Given the description of an element on the screen output the (x, y) to click on. 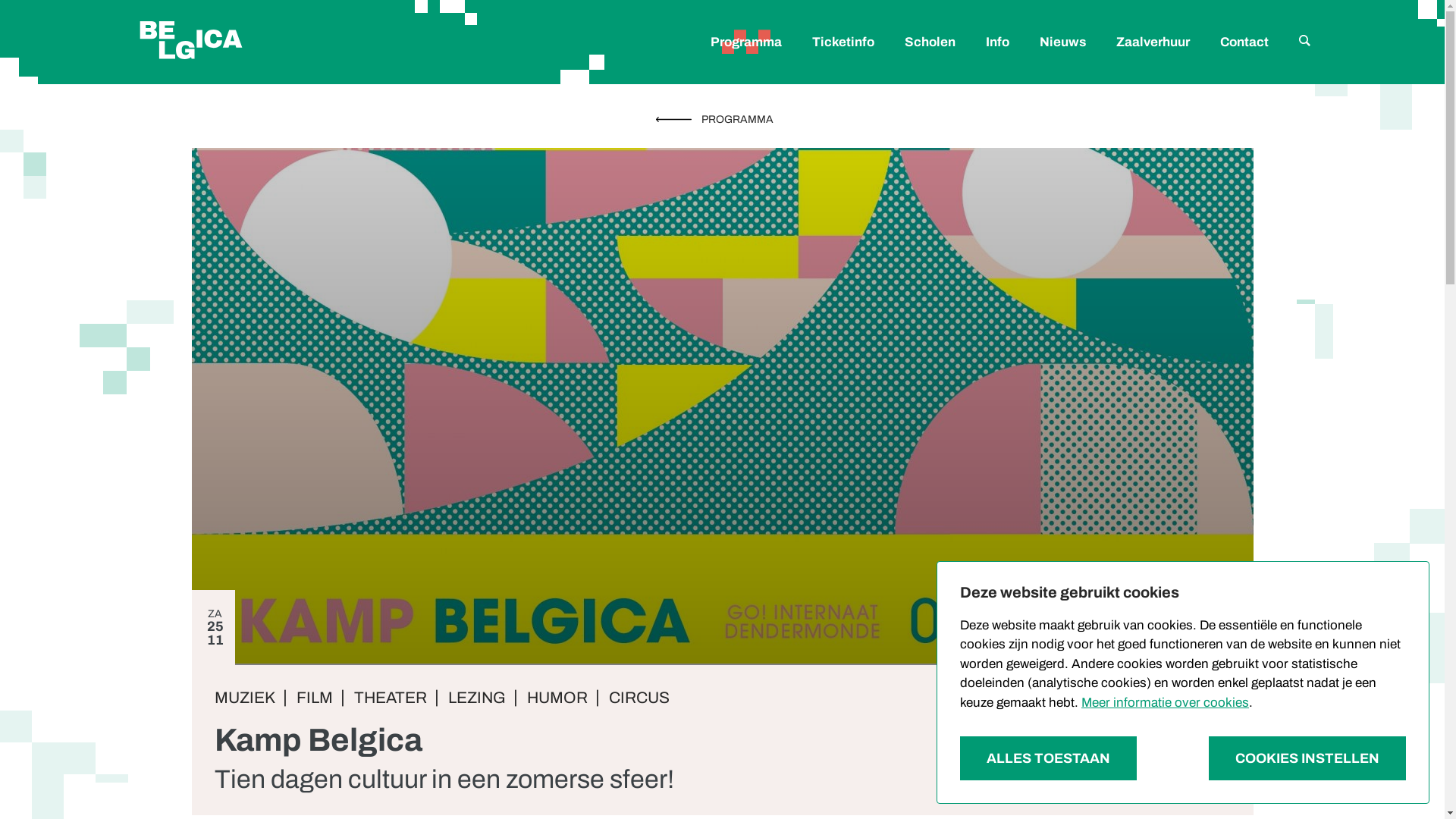
Meer informatie over cookies Element type: text (1164, 702)
HUMOR Element type: text (556, 698)
Programma Element type: text (745, 41)
COOKIES INSTELLEN Element type: text (1306, 758)
ALLES TOESTAAN Element type: text (1048, 758)
Info Element type: text (997, 41)
Ticketinfo Element type: text (842, 41)
CIRCUS Element type: text (638, 698)
Nieuws Element type: text (1061, 41)
MUZIEK Element type: text (243, 698)
THEATER Element type: text (389, 698)
Zaalverhuur Element type: text (1152, 41)
LEZING Element type: text (476, 698)
Contact Element type: text (1243, 41)
PROGRAMMA Element type: text (721, 119)
Scholen Element type: text (928, 41)
FILM Element type: text (313, 698)
